Given the description of an element on the screen output the (x, y) to click on. 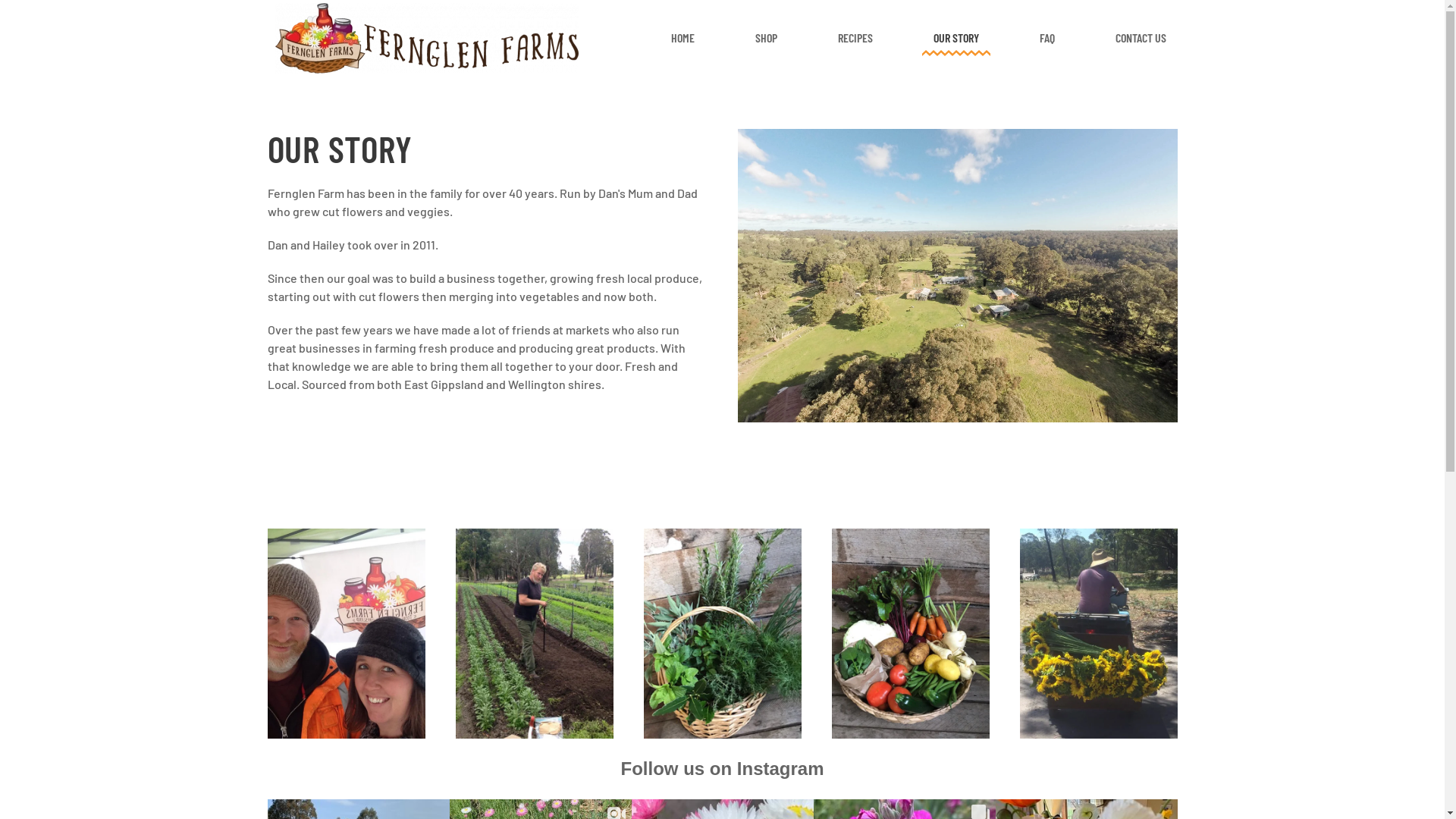
SHOP Element type: text (765, 37)
RECIPES Element type: text (855, 37)
OUR STORY Element type: text (956, 37)
FAQ Element type: text (1047, 37)
CONTACT US Element type: text (1140, 37)
HOME Element type: text (682, 37)
